Given the description of an element on the screen output the (x, y) to click on. 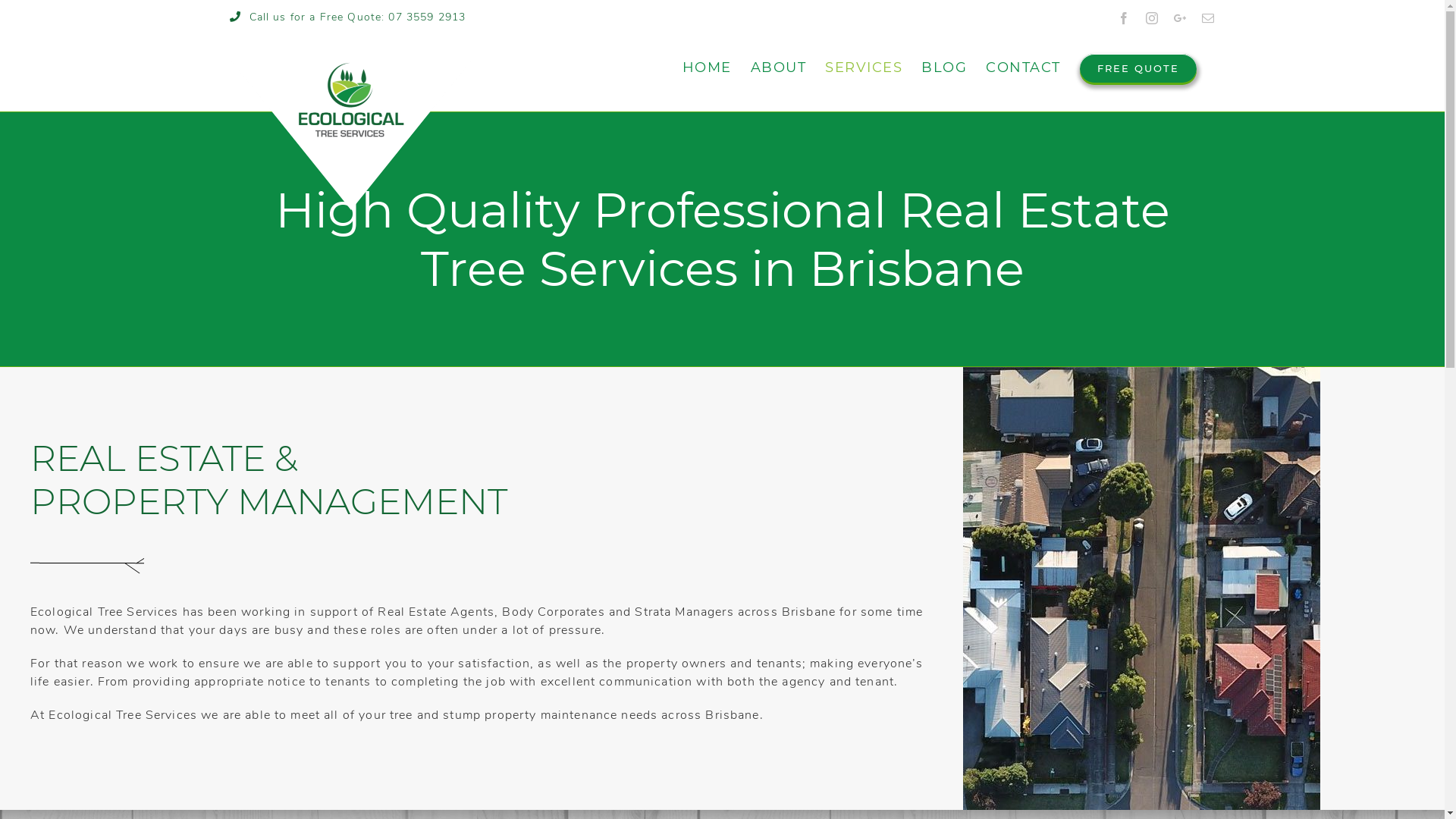
Email Element type: text (1207, 18)
Call us for a Free Quote: 07 3559 2913 Element type: text (347, 16)
ABOUT Element type: text (778, 67)
Stick large Element type: hover (87, 562)
FREE QUOTE Element type: text (1137, 67)
Facebook Element type: text (1123, 18)
Google+ Element type: text (1179, 18)
Real Estate image Element type: hover (1141, 588)
Instagram Element type: text (1151, 18)
CONTACT Element type: text (1022, 67)
SERVICES Element type: text (863, 67)
BLOG Element type: text (943, 67)
HOME Element type: text (706, 67)
